Given the description of an element on the screen output the (x, y) to click on. 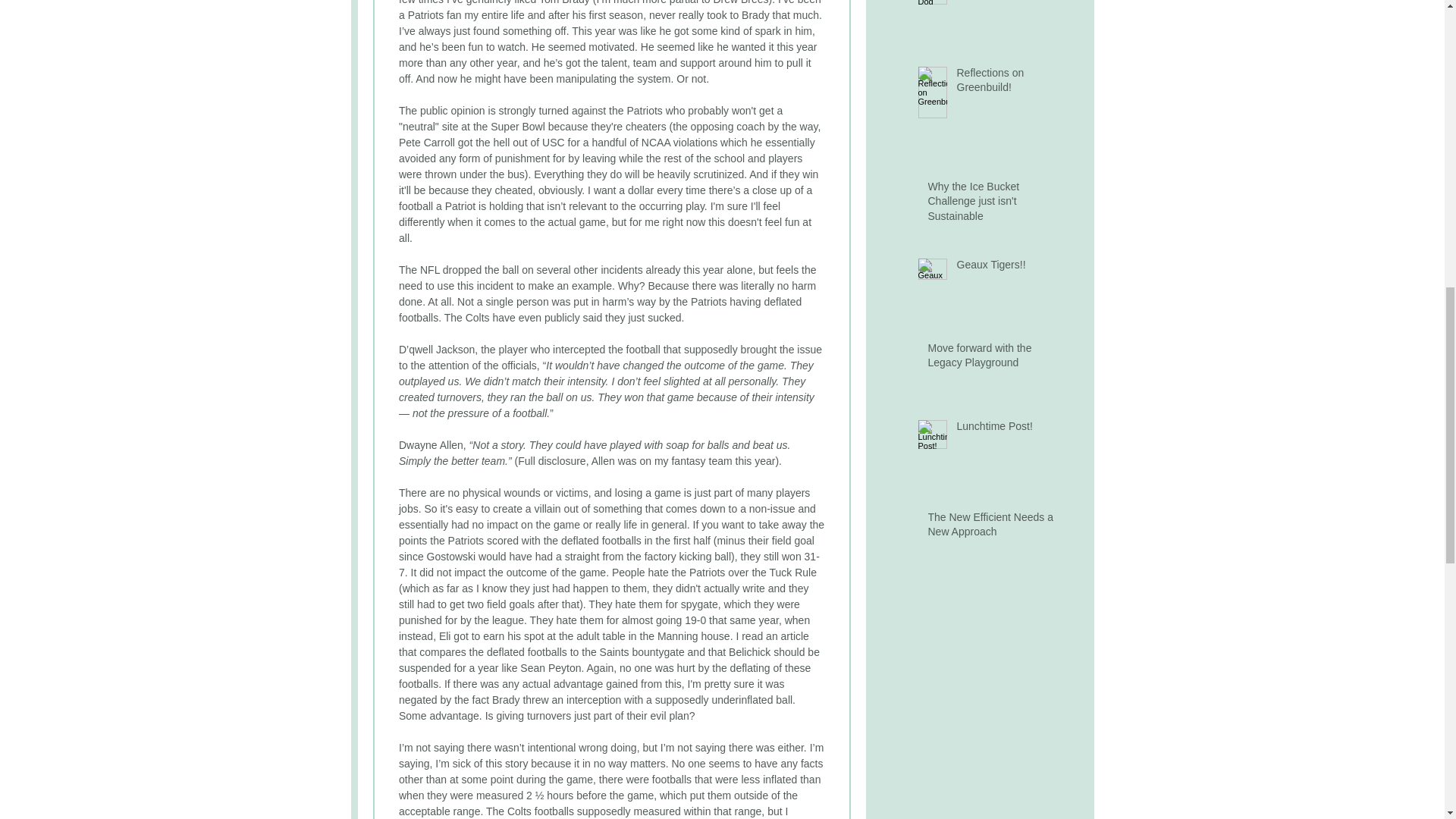
Share (390, 10)
Share (390, 10)
Pin to Pinterest (522, 11)
Twitter Tweet (452, 11)
